Given the description of an element on the screen output the (x, y) to click on. 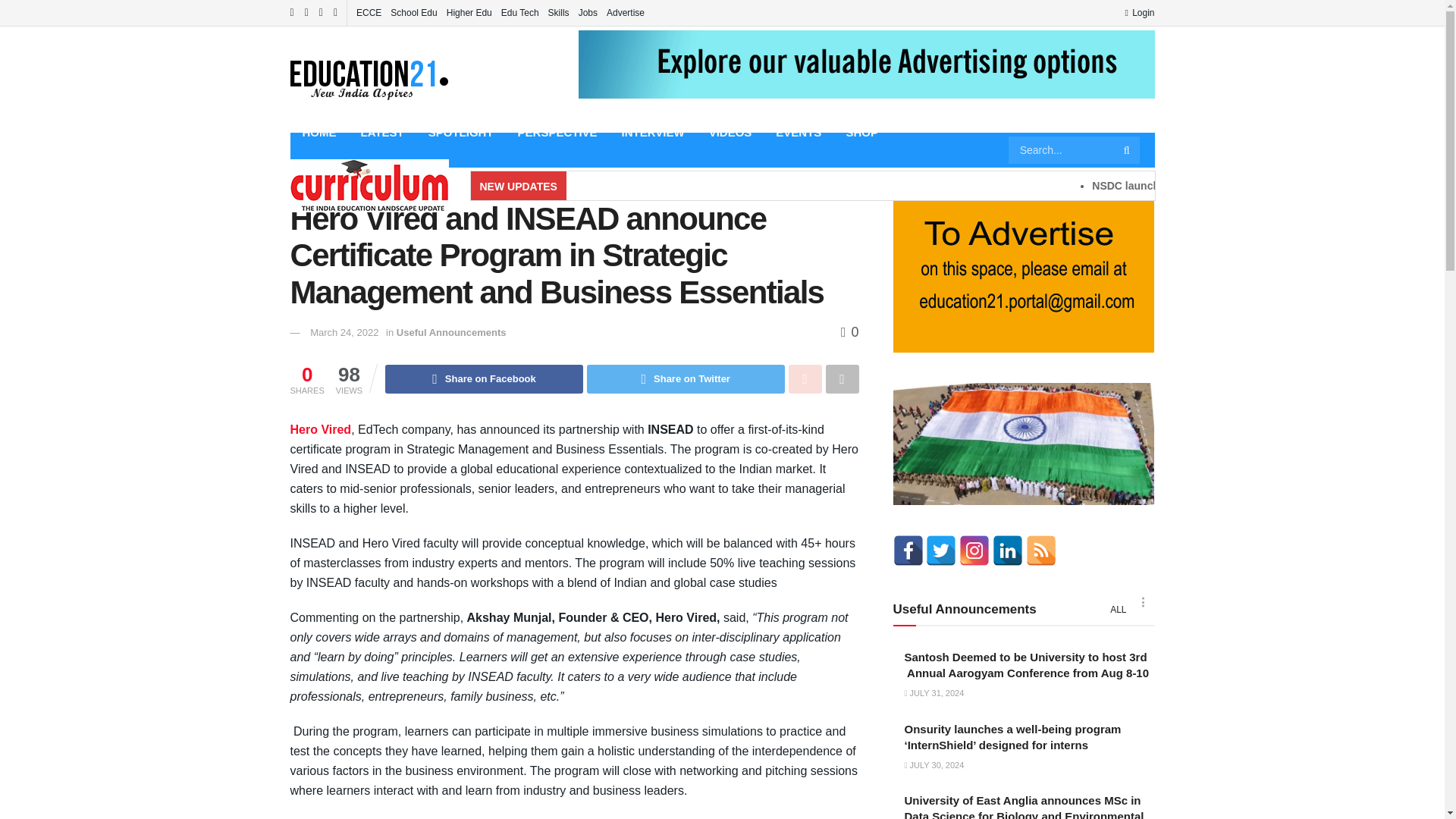
LinkedIn (1007, 550)
Edu Tech (519, 12)
RSS Feed (1041, 550)
PERSPECTIVE (557, 132)
SPOTLIGHT (460, 132)
SHOP (860, 132)
Twitter (941, 550)
School Edu (413, 12)
ECCE (368, 12)
INTERVIEW (653, 132)
Higher Edu (469, 12)
Advertise (626, 12)
Login (1139, 12)
Instagram (974, 550)
LATEST (382, 132)
